Given the description of an element on the screen output the (x, y) to click on. 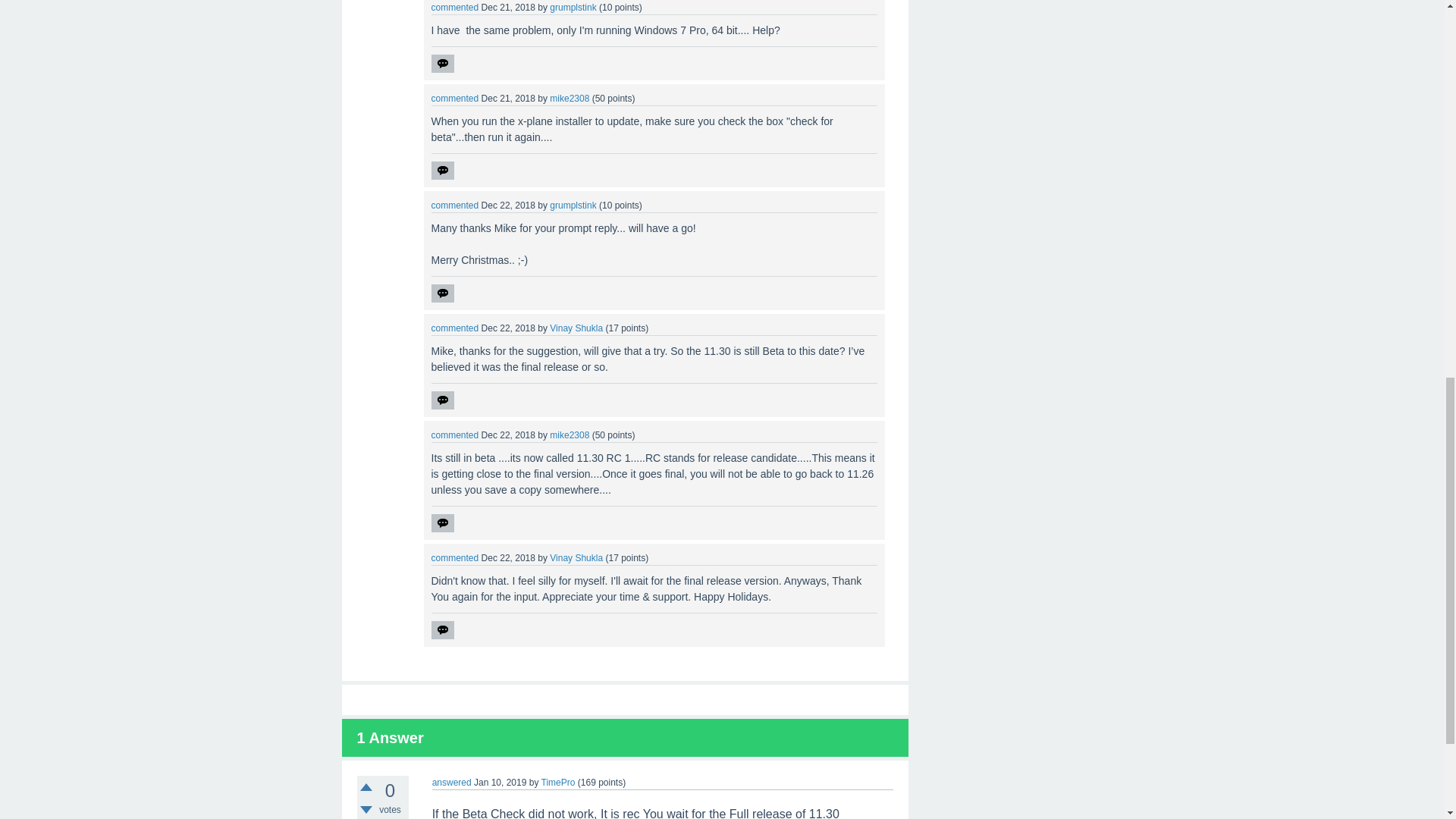
Reply to this comment (441, 629)
reply (441, 170)
reply (441, 63)
Reply to this comment (441, 523)
reply (441, 293)
mike2308 (569, 98)
grumplstink (572, 204)
commented (454, 204)
grumplstink (572, 7)
Reply to this comment (441, 293)
commented (454, 7)
Vinay Shukla (576, 327)
reply (441, 400)
reply (441, 523)
Reply to this comment (441, 63)
